Given the description of an element on the screen output the (x, y) to click on. 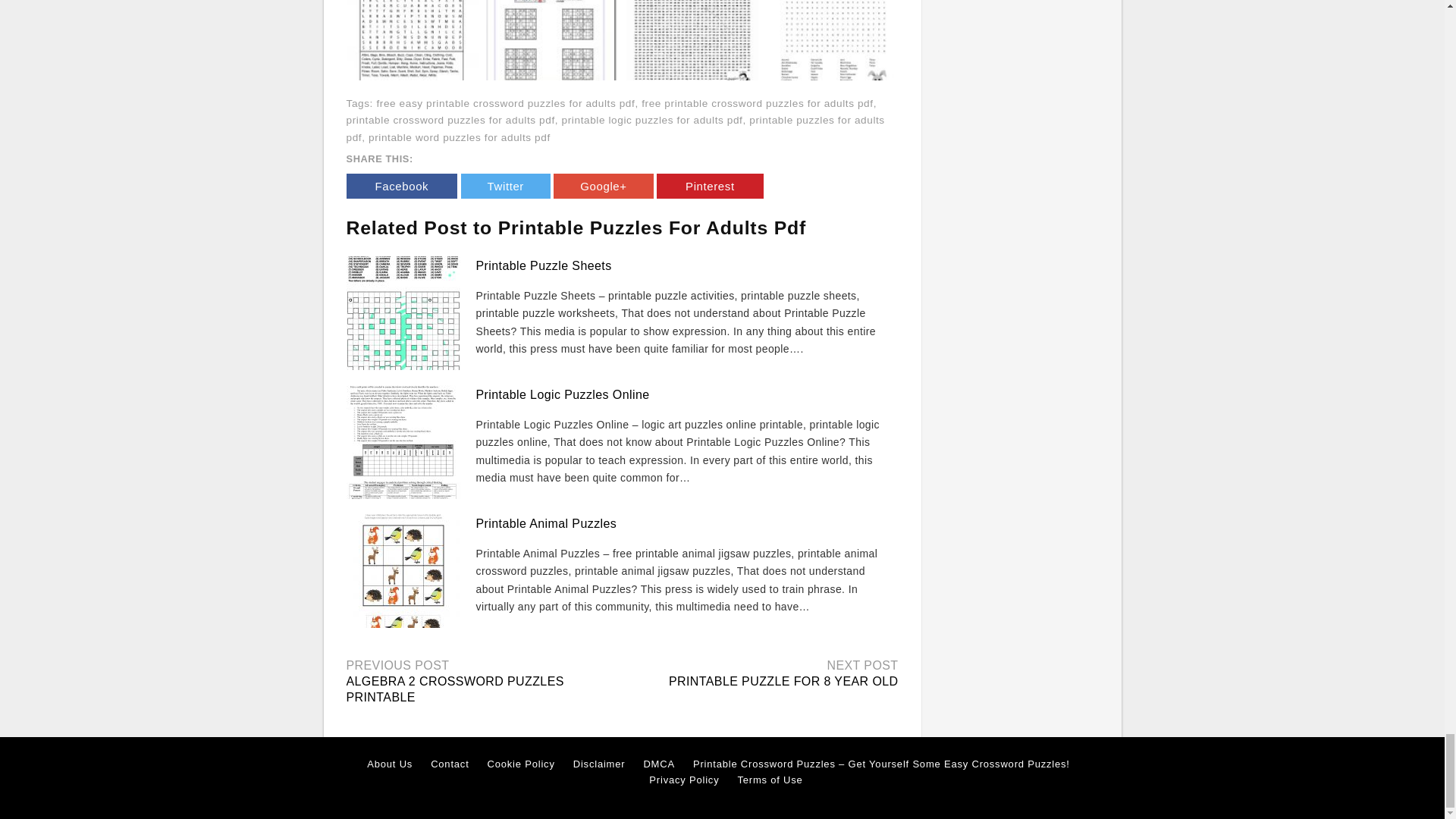
Printable Puzzle Sheets (543, 265)
free easy printable crossword puzzles for adults pdf (504, 102)
Printable Logic Puzzles Online (562, 394)
printable logic puzzles for adults pdf (652, 120)
Pinterest (709, 186)
printable word puzzles for adults pdf (459, 137)
free printable crossword puzzles for adults pdf (757, 102)
ALGEBRA 2 CROSSWORD PUZZLES PRINTABLE (454, 688)
printable crossword puzzles for adults pdf (450, 120)
Printable Animal Puzzles (546, 522)
